Given the description of an element on the screen output the (x, y) to click on. 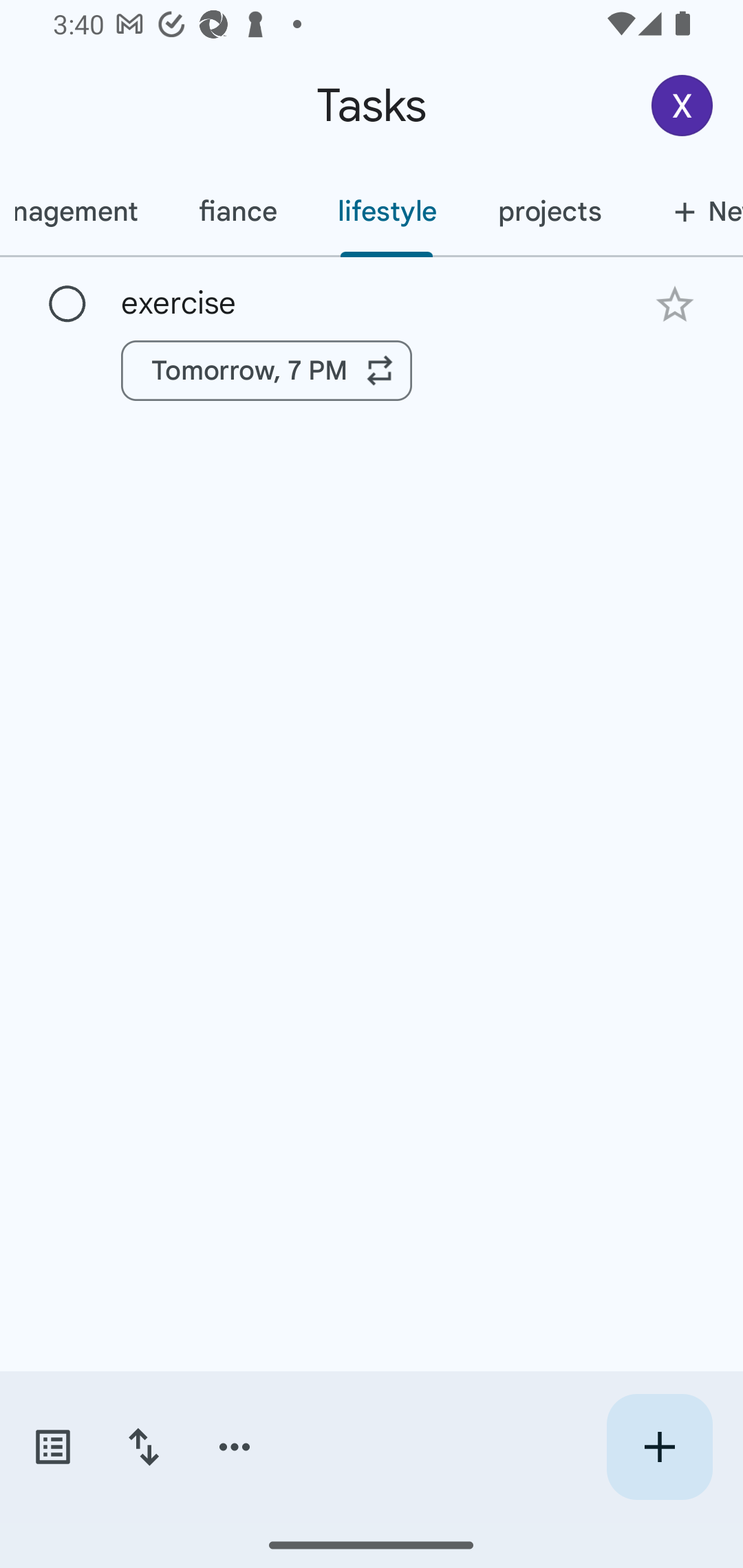
home management (83, 211)
fiance (236, 211)
projects (549, 211)
New list (687, 211)
Add star (674, 303)
Mark as complete (67, 304)
Tomorrow, 7 PM (266, 369)
Switch task lists (52, 1447)
Create new task (659, 1446)
Change sort order (143, 1446)
More options (234, 1446)
